Given the description of an element on the screen output the (x, y) to click on. 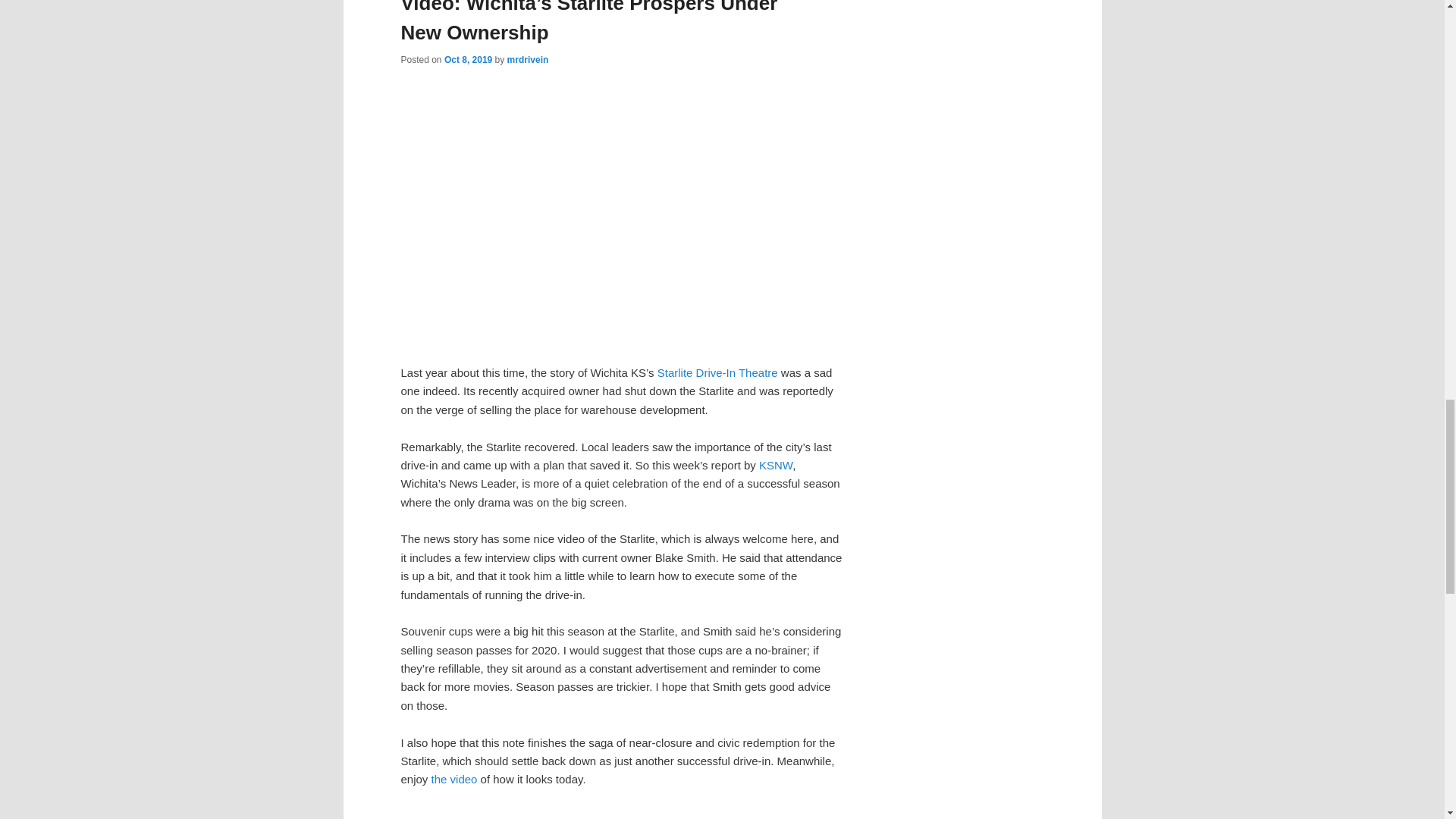
Oct 8, 2019 (468, 59)
10:40 am (468, 59)
KSNW (775, 464)
the video (453, 779)
mrdrivein (527, 59)
View all posts by mrdrivein (527, 59)
Starlite Drive-In Theatre (717, 372)
